Given the description of an element on the screen output the (x, y) to click on. 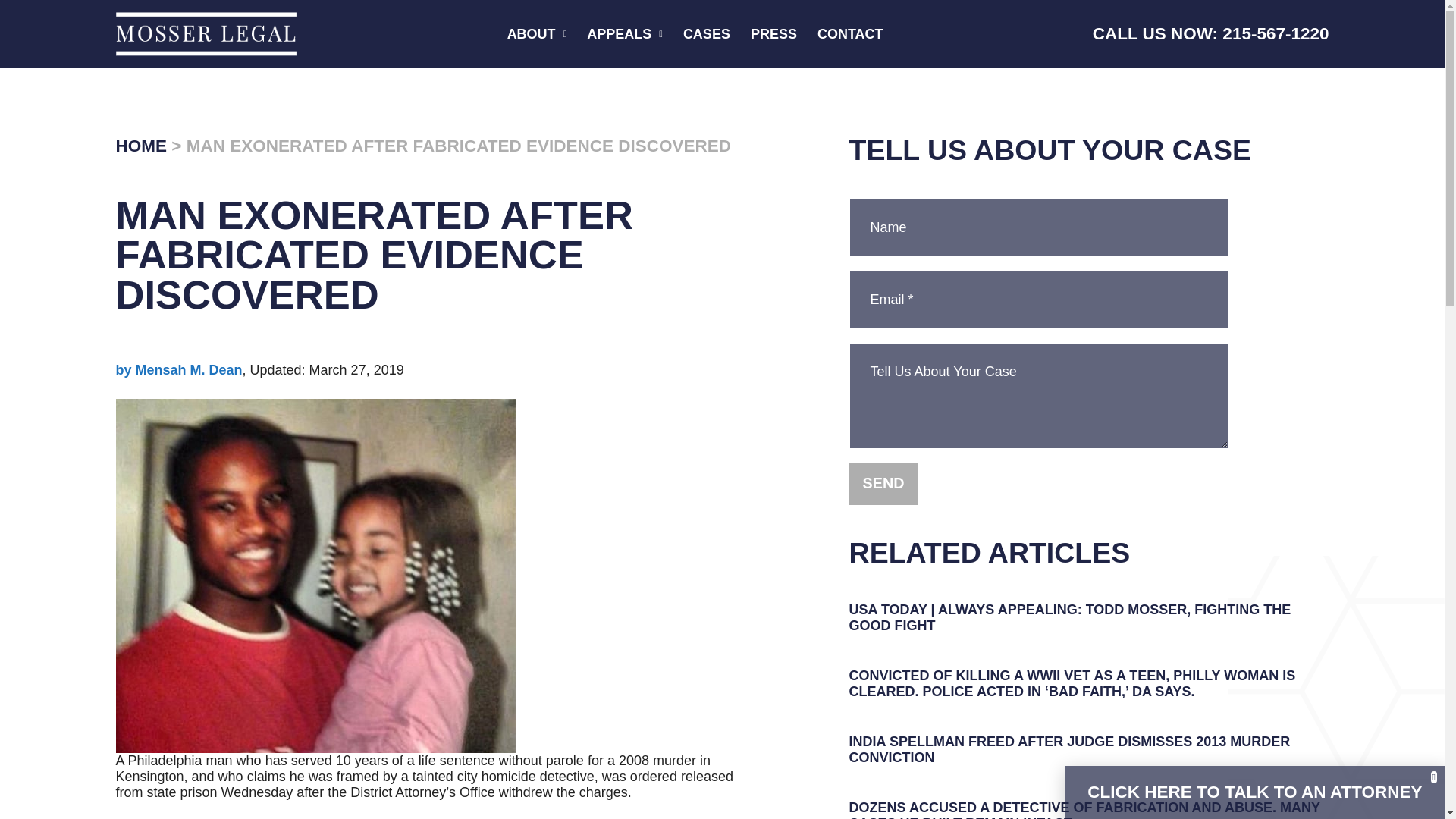
CONTACT (849, 34)
APPEALS (624, 34)
ABOUT (536, 34)
PRESS (773, 34)
CASES (706, 34)
CALL US NOW: 215-567-1220 (1211, 33)
